Given the description of an element on the screen output the (x, y) to click on. 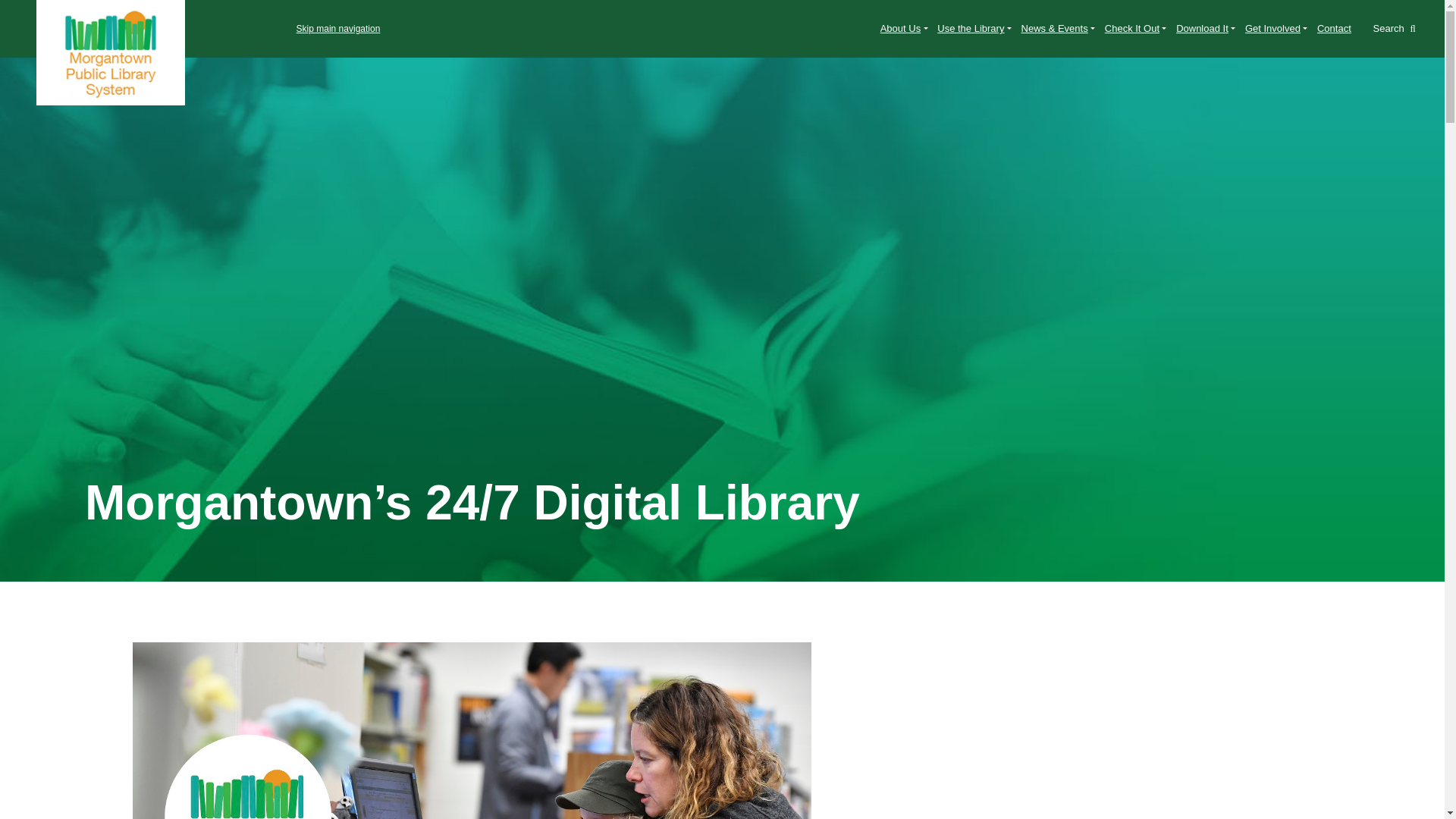
Use the Library (974, 28)
Search (1394, 28)
About Us (904, 28)
Download It (1206, 28)
Skip main navigation (195, 29)
Check It Out (1134, 28)
Get Involved (1275, 28)
